Given the description of an element on the screen output the (x, y) to click on. 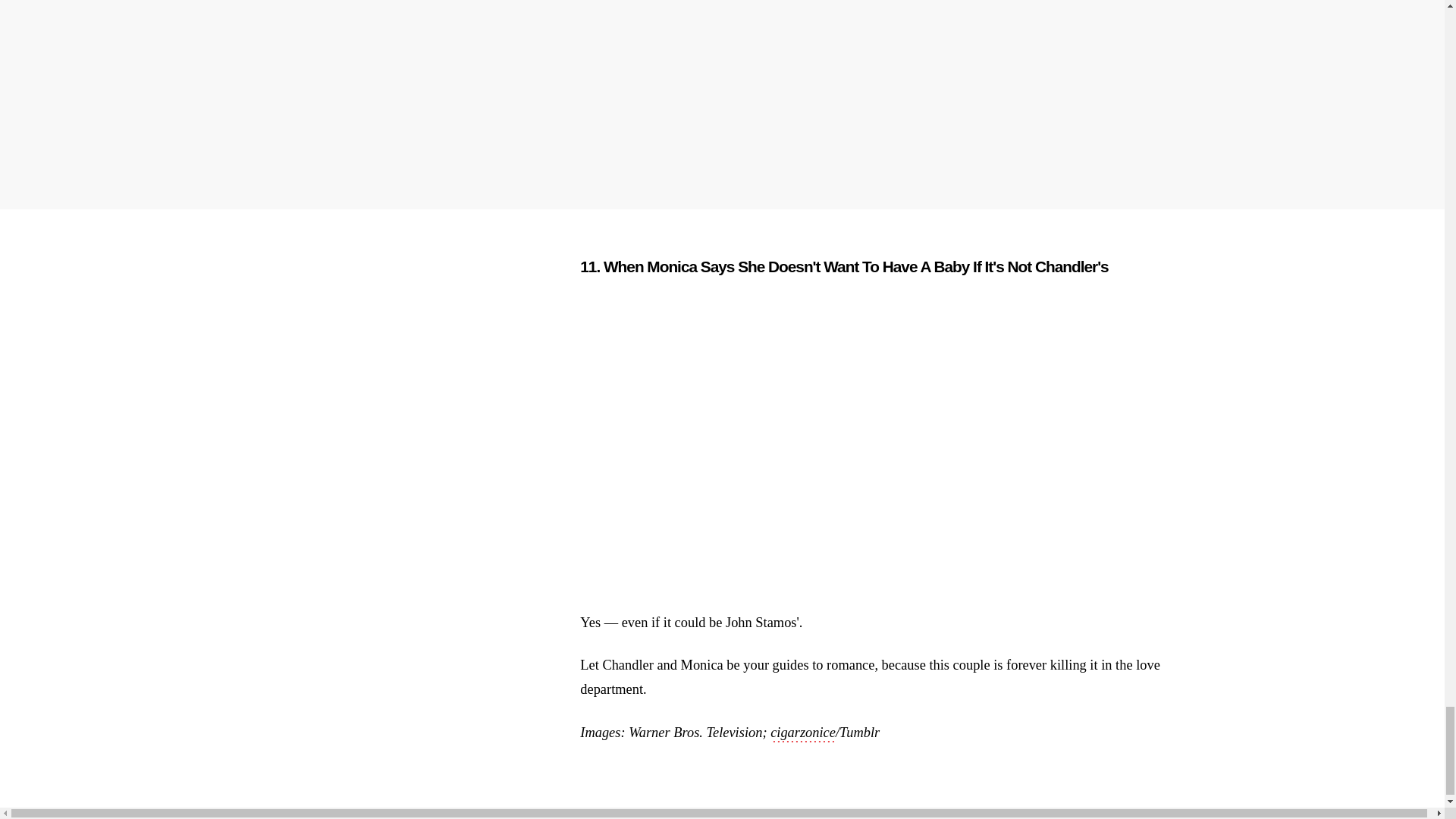
cigarzonice (802, 733)
